Given the description of an element on the screen output the (x, y) to click on. 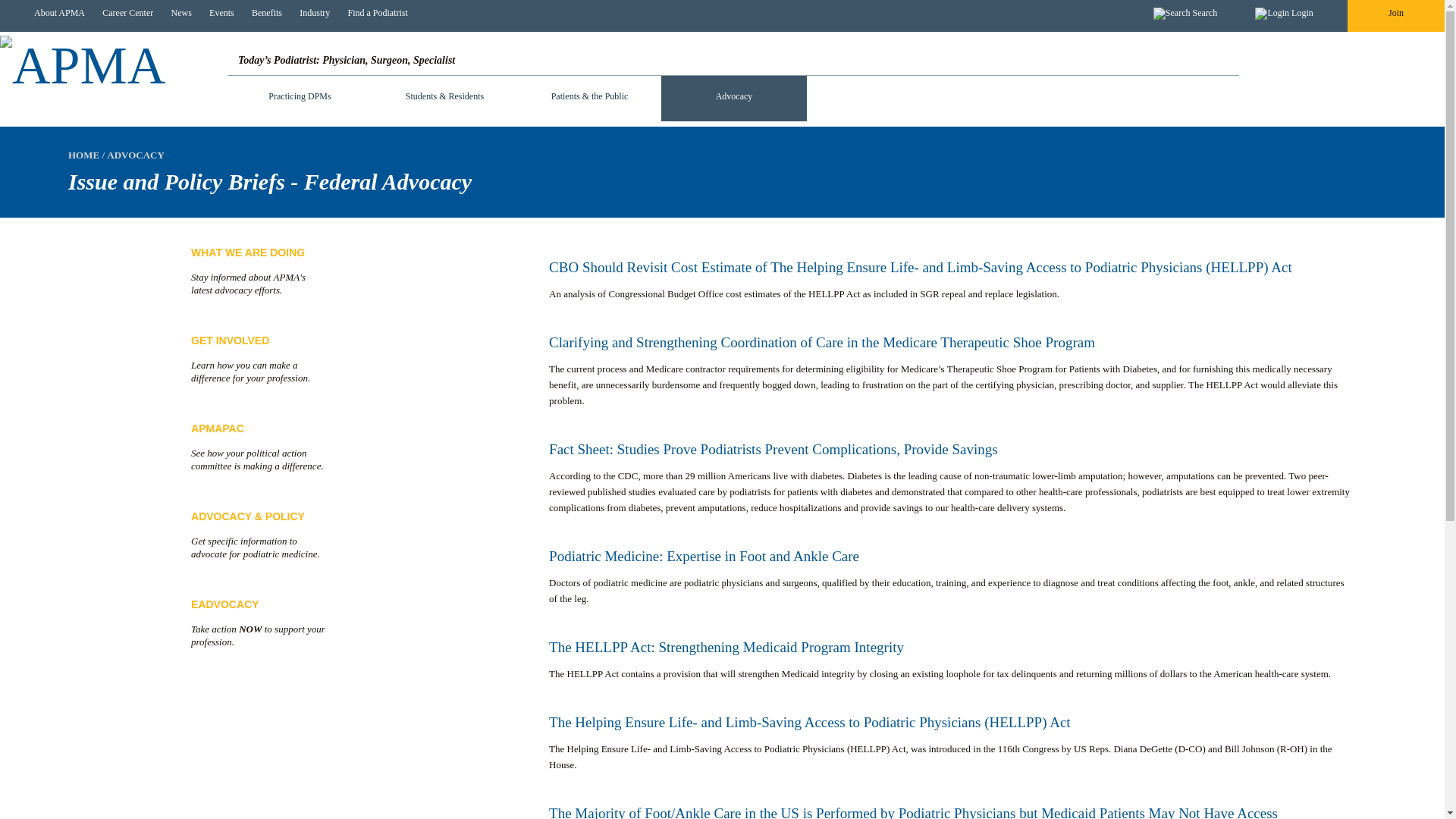
Practicing DPMs (299, 87)
About APMA (55, 13)
Events (218, 13)
Search (1185, 13)
News (176, 13)
Login (1283, 13)
Advocacy (733, 98)
Find a Podiatrist (373, 13)
Industry (310, 13)
Career Center (123, 13)
